Given the description of an element on the screen output the (x, y) to click on. 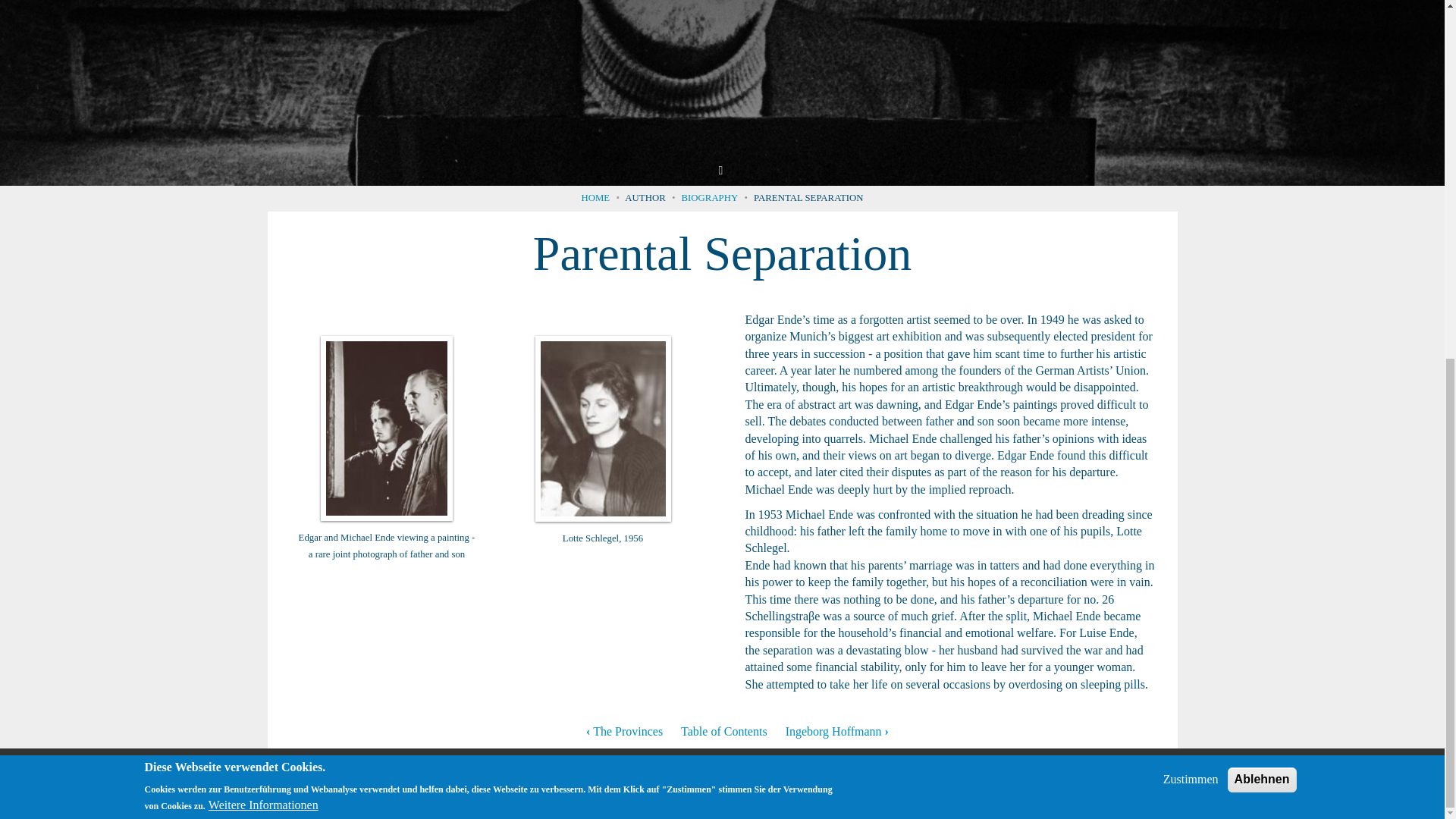
Table of Contents (724, 730)
Zustimmen (1190, 146)
Ablehnen (1262, 146)
BIOGRAPHY (709, 197)
Contact (996, 779)
HOME (595, 197)
www.michaelende.de (177, 779)
Go to next page (837, 730)
Go to previous page (624, 730)
Weitere Informationen (263, 171)
Go to parent page (724, 730)
Impressum (1068, 779)
